Given the description of an element on the screen output the (x, y) to click on. 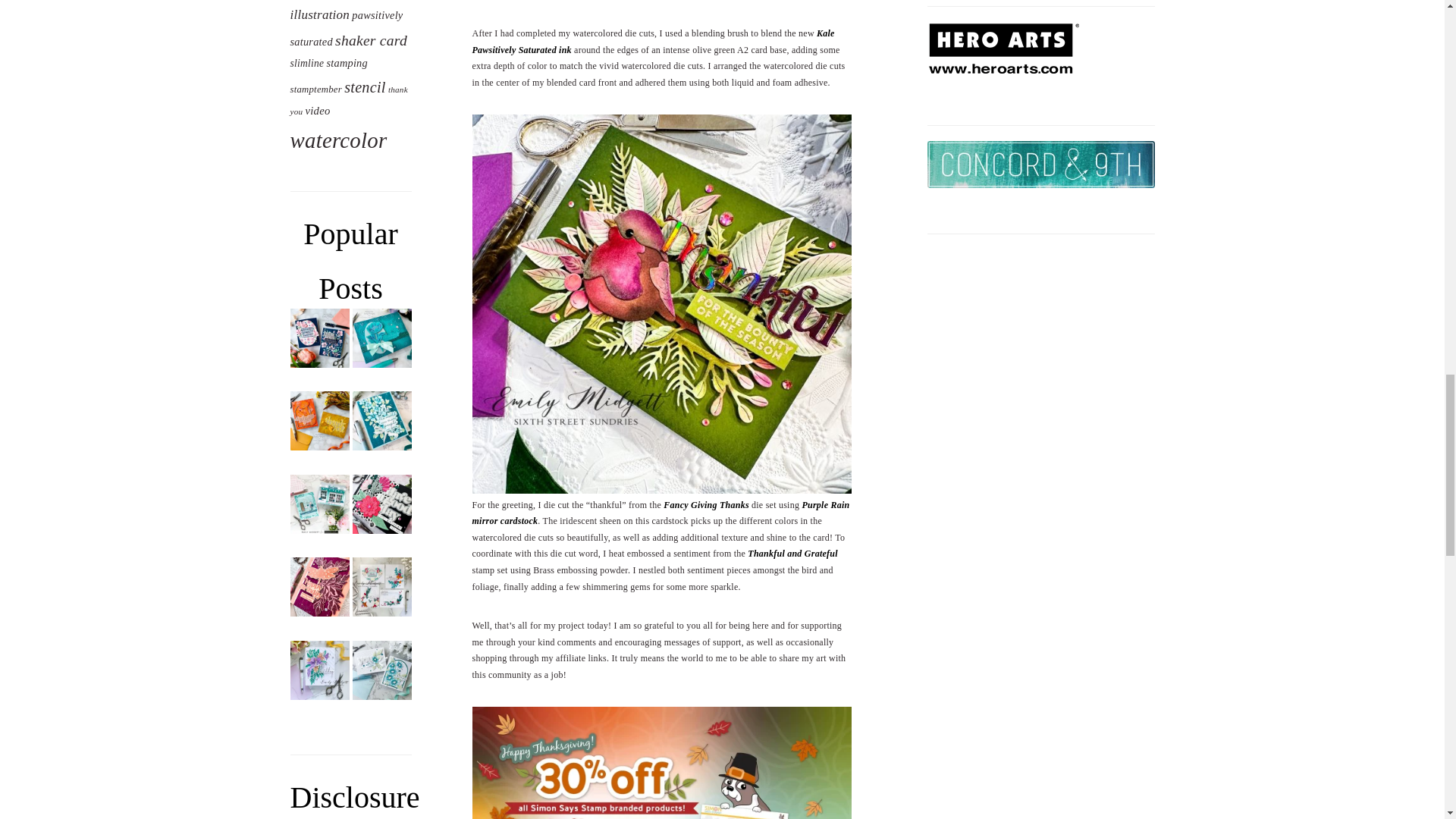
Kale Pawsitively Saturated ink (652, 41)
Fancy Giving Thanks (706, 504)
Thankful and Grateful (792, 552)
Purple Rain mirror cardstock (659, 513)
